Given the description of an element on the screen output the (x, y) to click on. 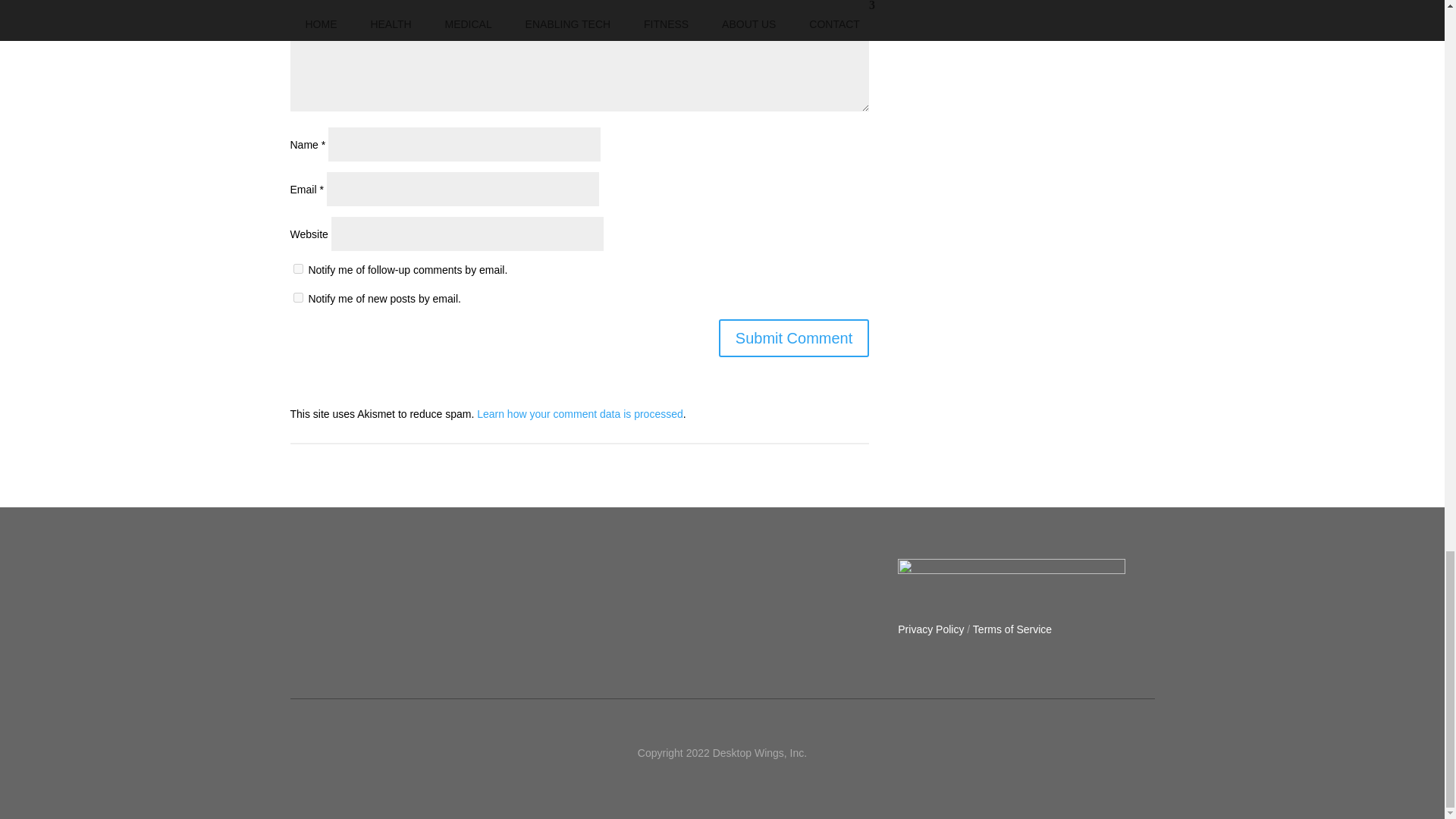
Privacy Policy (930, 629)
Learn how your comment data is processed (579, 413)
Terms of Service (1011, 629)
subscribe (297, 297)
subscribe (297, 268)
Submit Comment (794, 338)
Submit Comment (794, 338)
